Given the description of an element on the screen output the (x, y) to click on. 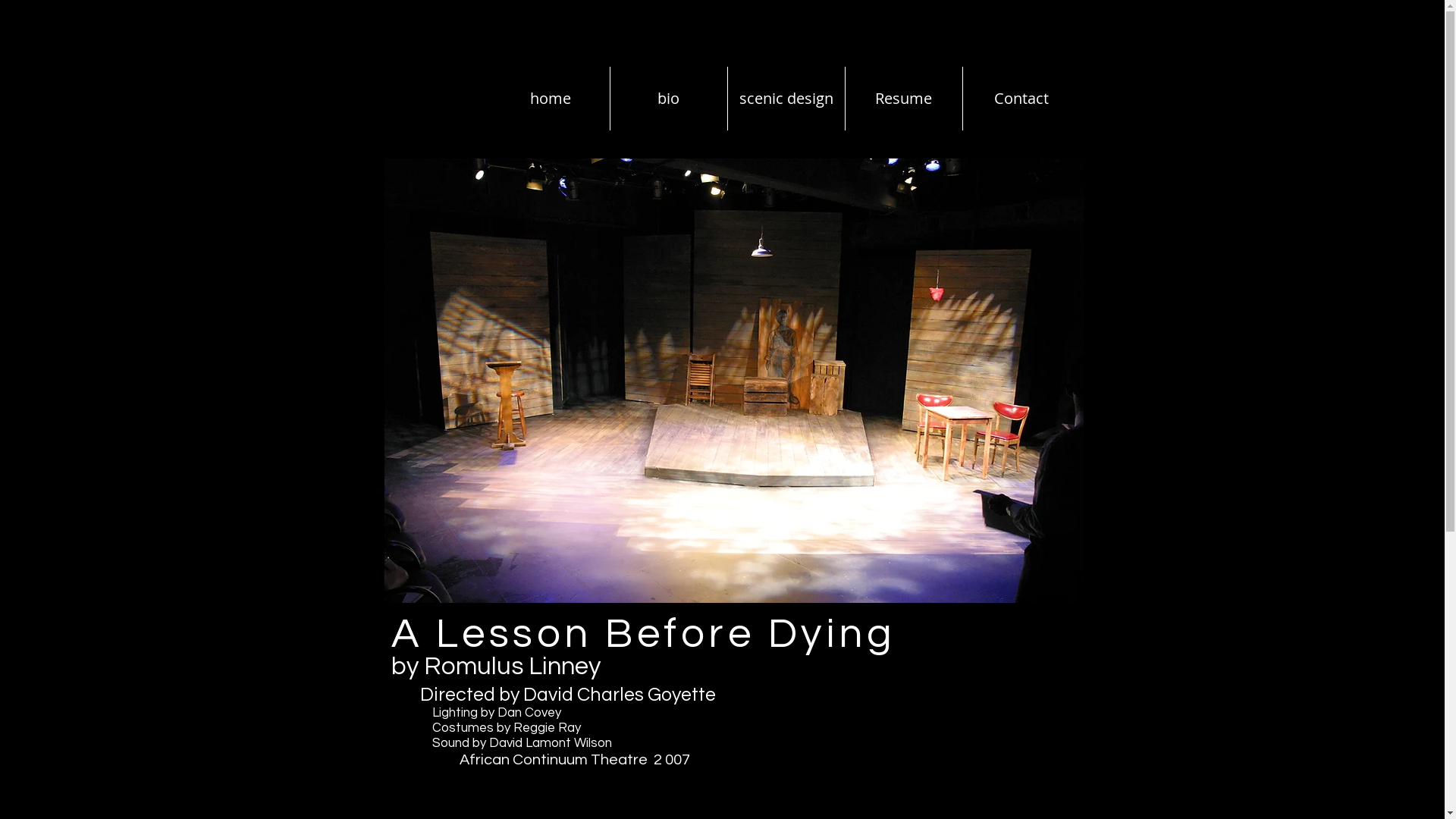
scenic design Element type: text (786, 98)
home Element type: text (549, 98)
Resume Element type: text (902, 98)
Contact Element type: text (1021, 98)
bio Element type: text (667, 98)
